Given the description of an element on the screen output the (x, y) to click on. 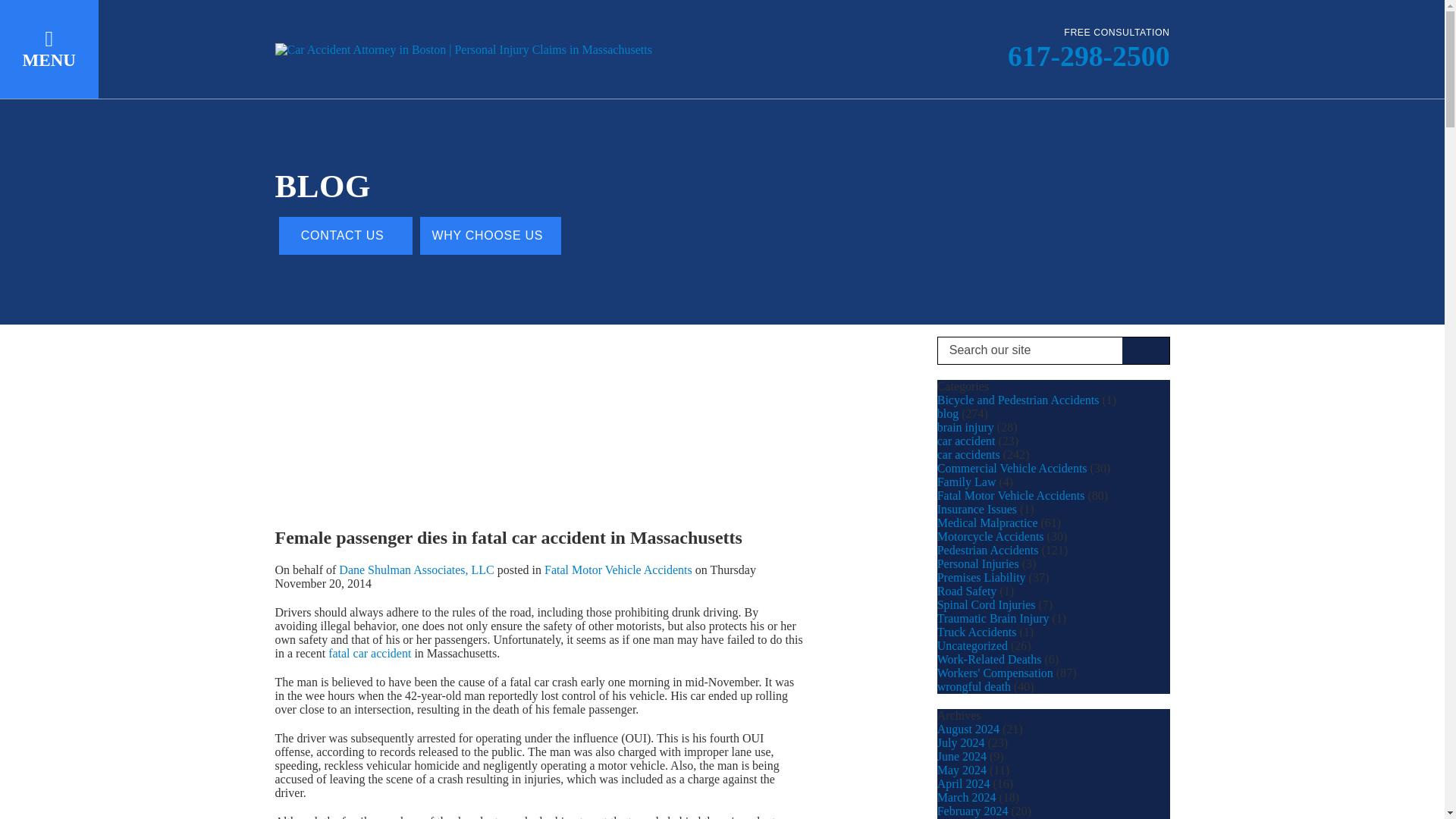
MENU (48, 49)
Fatal Motor Vehicle Accidents (618, 569)
617-298-2500 (1088, 56)
Posts by Dane Shulman Associates, LLC (416, 569)
